Given the description of an element on the screen output the (x, y) to click on. 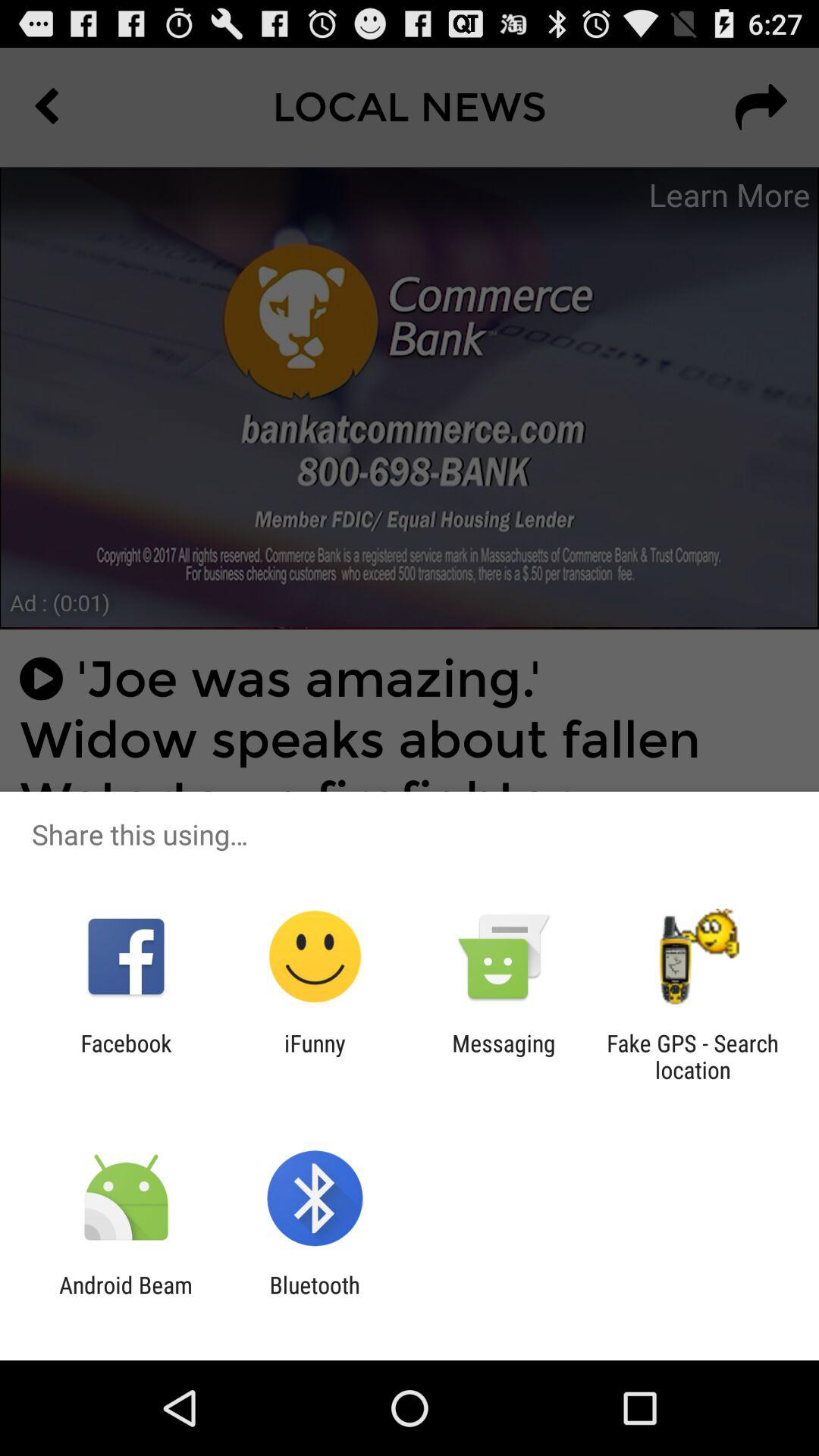
turn on item to the right of the messaging item (692, 1056)
